Given the description of an element on the screen output the (x, y) to click on. 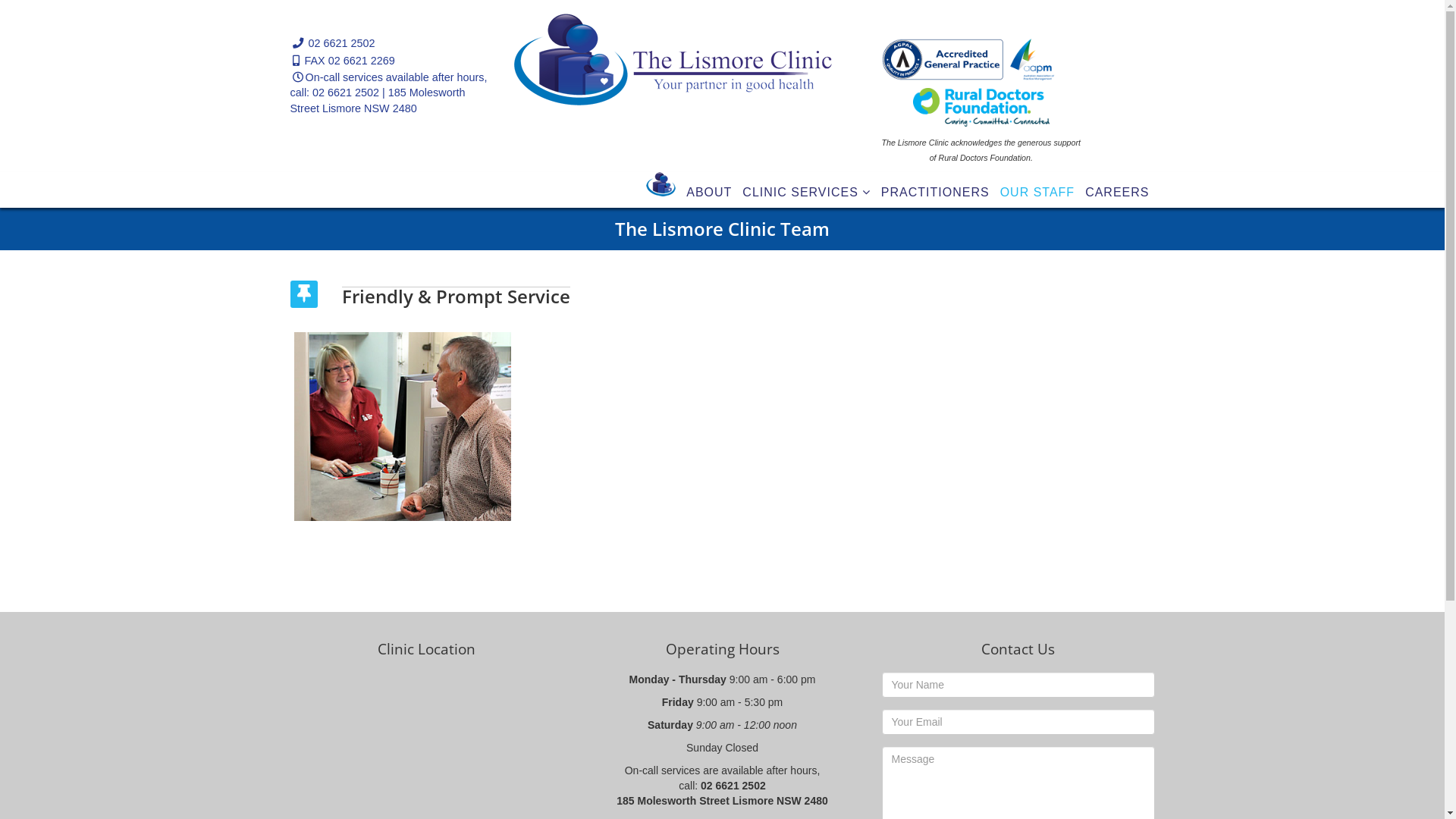
FAX 02 6621 2269 Element type: text (349, 60)
CLINIC SERVICES Element type: text (806, 191)
PRACTITIONERS Element type: text (934, 192)
02 6621 2502 Element type: text (340, 43)
OUR STAFF Element type: text (1036, 192)
CAREERS Element type: text (1116, 192)
ABOUT Element type: text (708, 192)
